Given the description of an element on the screen output the (x, y) to click on. 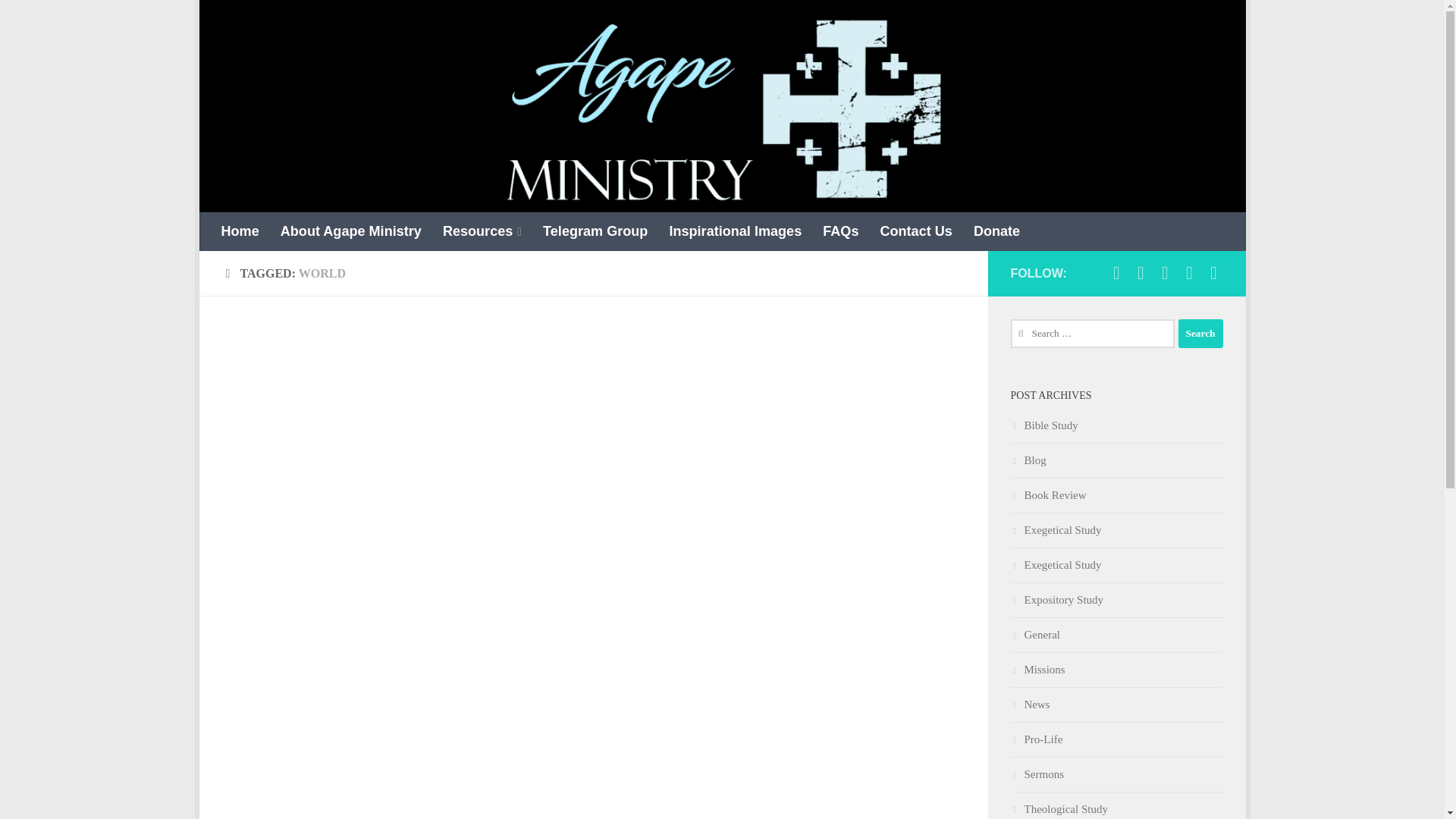
Search (1200, 333)
FAQs (840, 231)
Follow us on TinyChat (1213, 272)
Resources (482, 231)
Donate (996, 231)
Follow us on Youtube (1164, 272)
Contact Us (915, 231)
Search (1200, 333)
Home (240, 231)
About Agape Ministry (350, 231)
Follow us on Facebook (1115, 272)
Inspirational Images (735, 231)
Telegram Group (595, 231)
Follow us on Telegram (1140, 272)
Skip to content (258, 20)
